Given the description of an element on the screen output the (x, y) to click on. 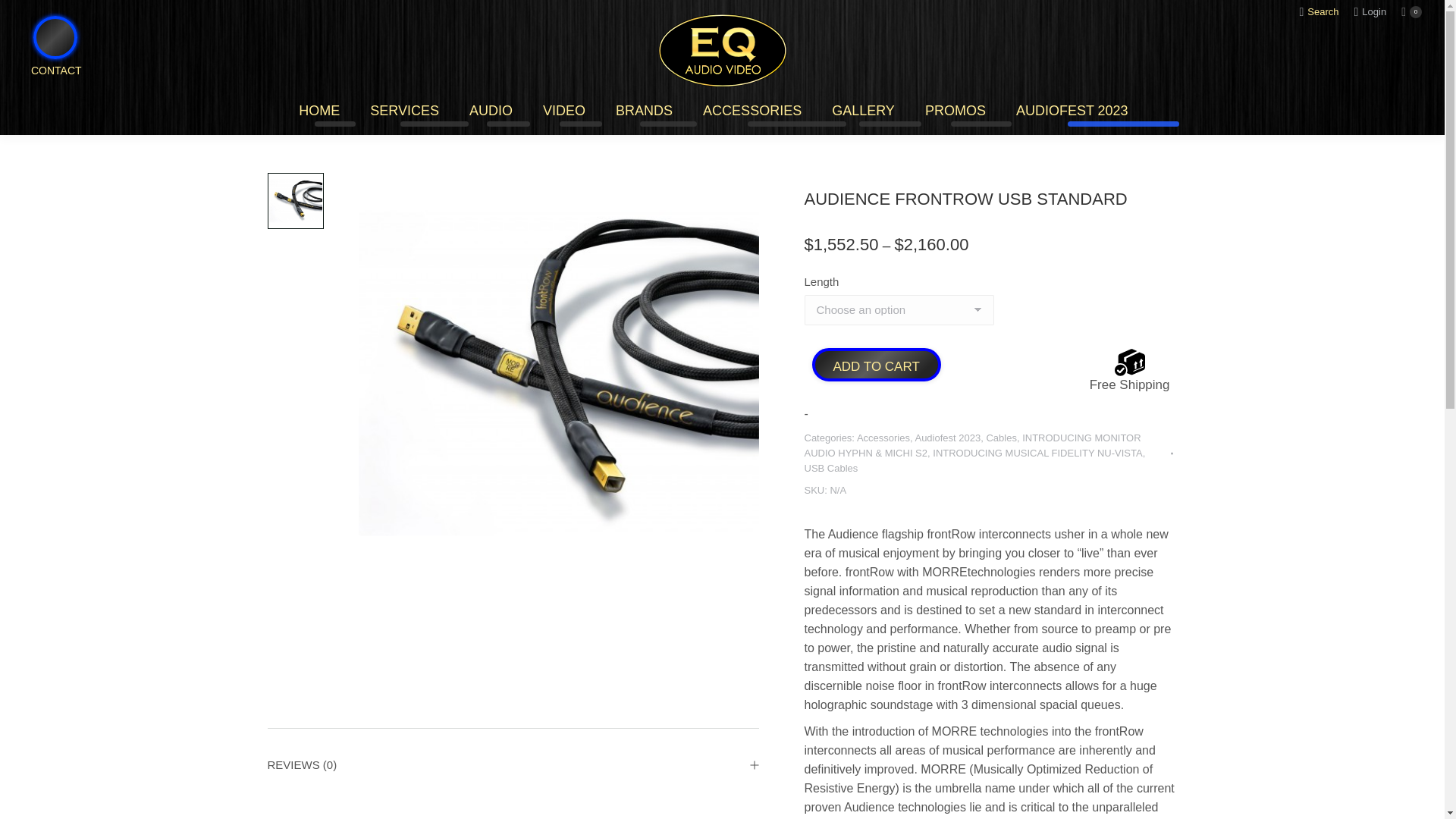
0 (1411, 11)
Login (1370, 11)
SERVICES (404, 111)
CONTACT (45, 96)
Go! (26, 19)
Search (1318, 11)
HOME (318, 111)
